Given the description of an element on the screen output the (x, y) to click on. 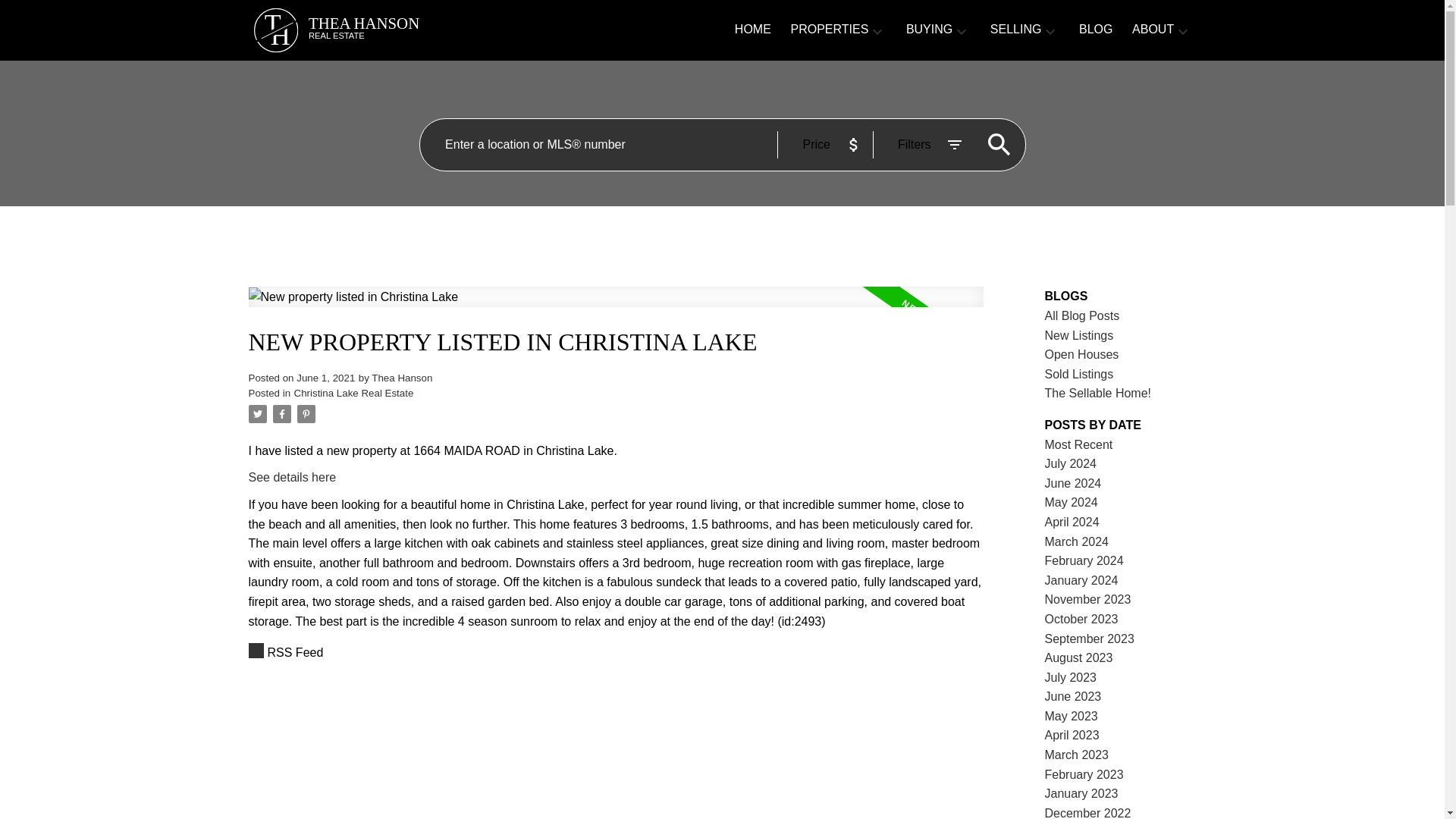
September 2023 (1089, 638)
August 2023 (1079, 657)
May 2024 (1071, 502)
November 2023 (1088, 599)
RSS (616, 652)
January 2024 (1081, 580)
All Blog Posts (1082, 315)
February 2024 (1084, 560)
Christina Lake Real Estate (353, 392)
Open Houses (1082, 354)
June 2024 (1073, 482)
BLOG (1095, 30)
Most Recent (1079, 444)
April 2024 (1072, 521)
March 2024 (1077, 541)
